Given the description of an element on the screen output the (x, y) to click on. 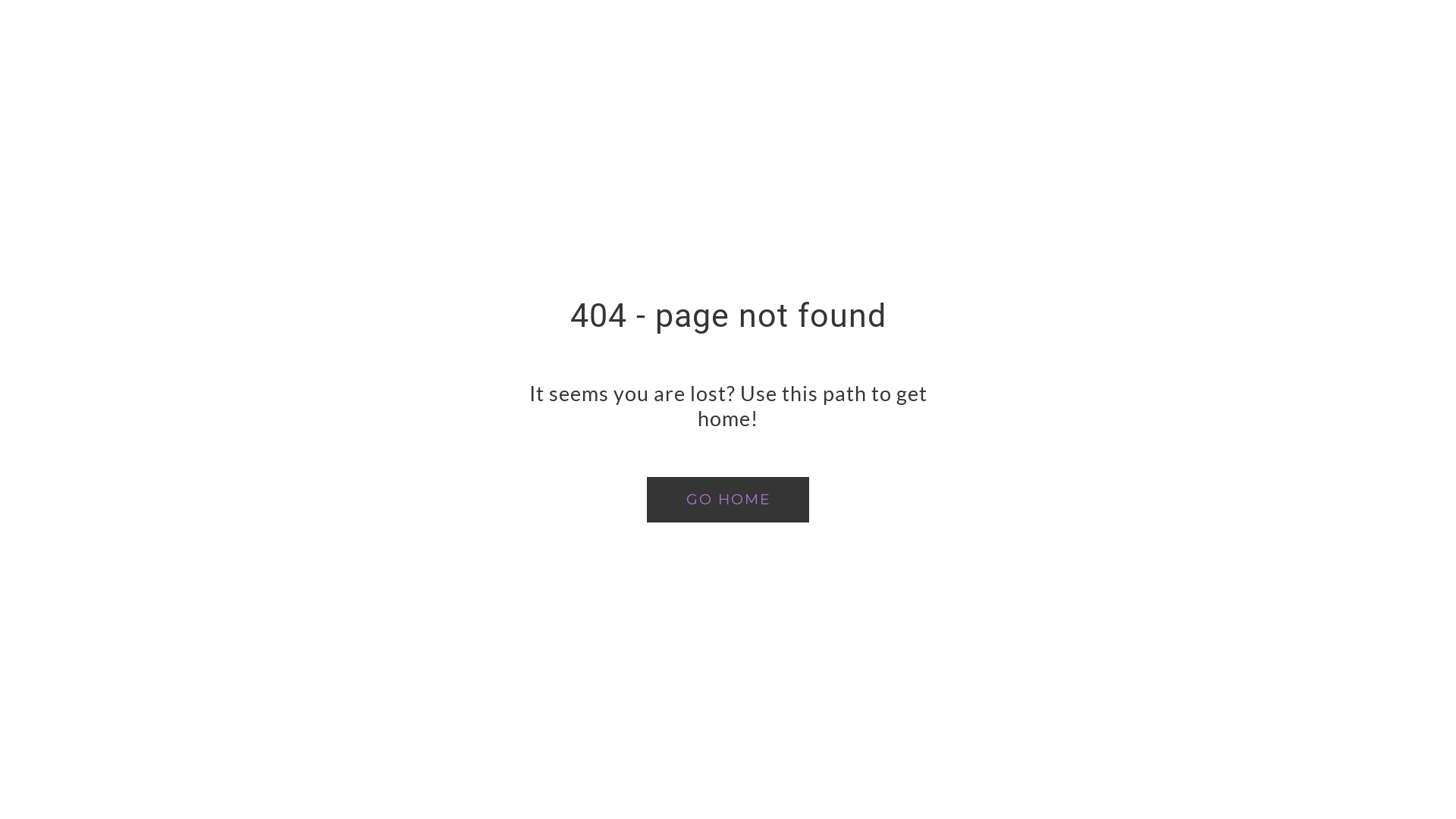
GO HOME Element type: text (727, 499)
